Given the description of an element on the screen output the (x, y) to click on. 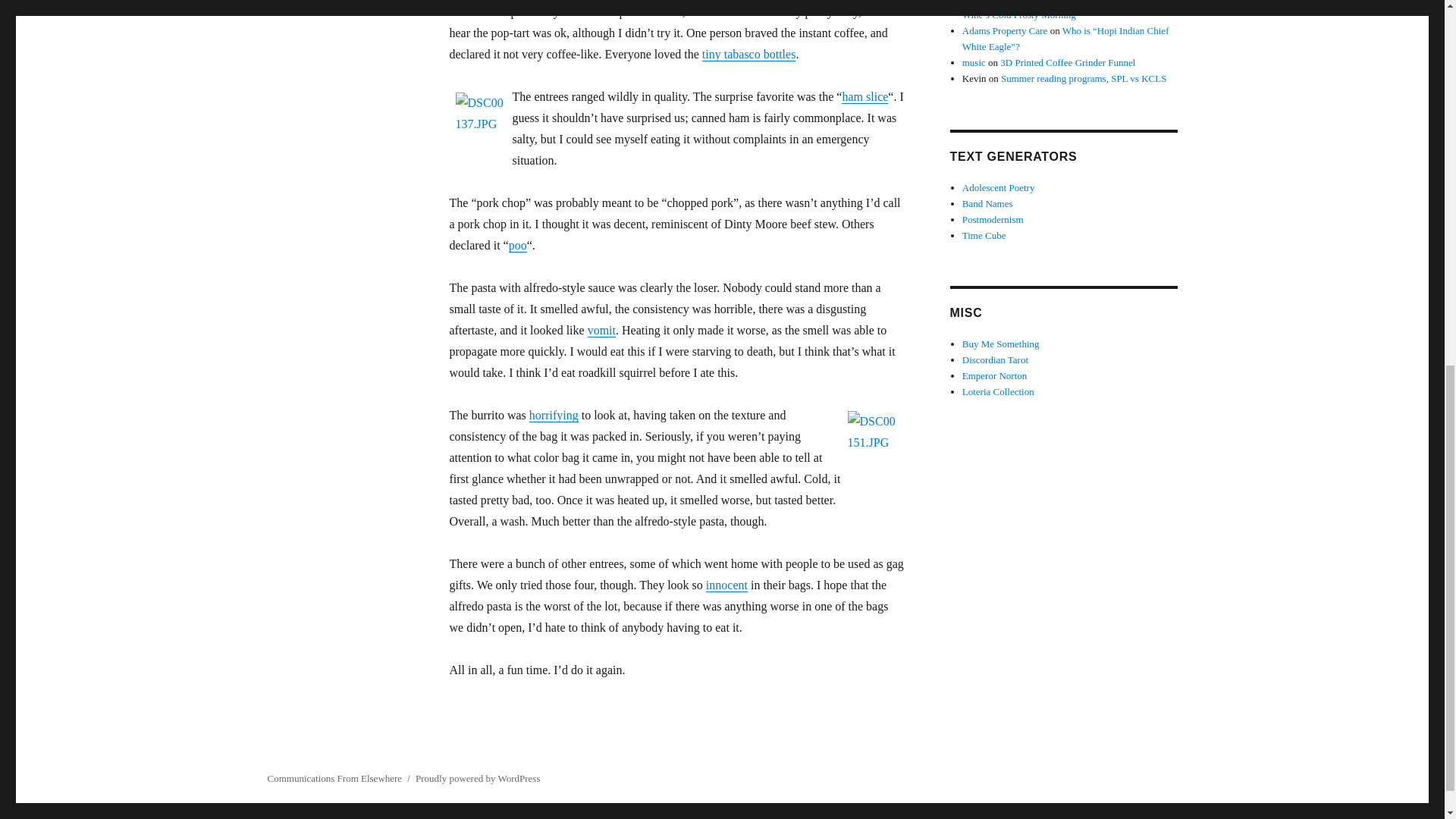
horrifying (553, 414)
screen installation (997, 2)
tiny tabasco bottles (748, 53)
ham slice (864, 96)
innocent (727, 584)
vomit (601, 329)
poo (517, 245)
